Given the description of an element on the screen output the (x, y) to click on. 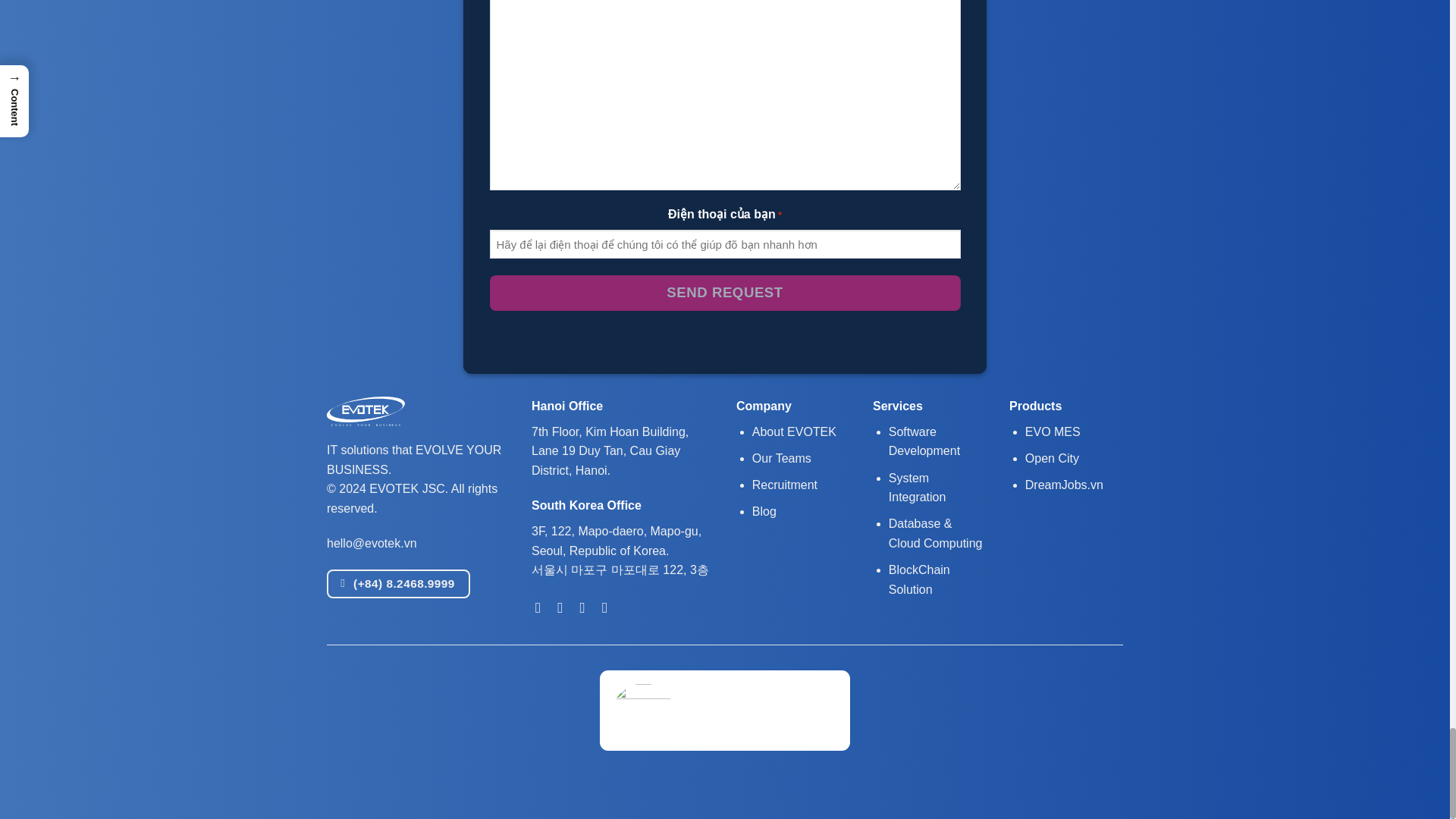
Send Request (724, 293)
